Given the description of an element on the screen output the (x, y) to click on. 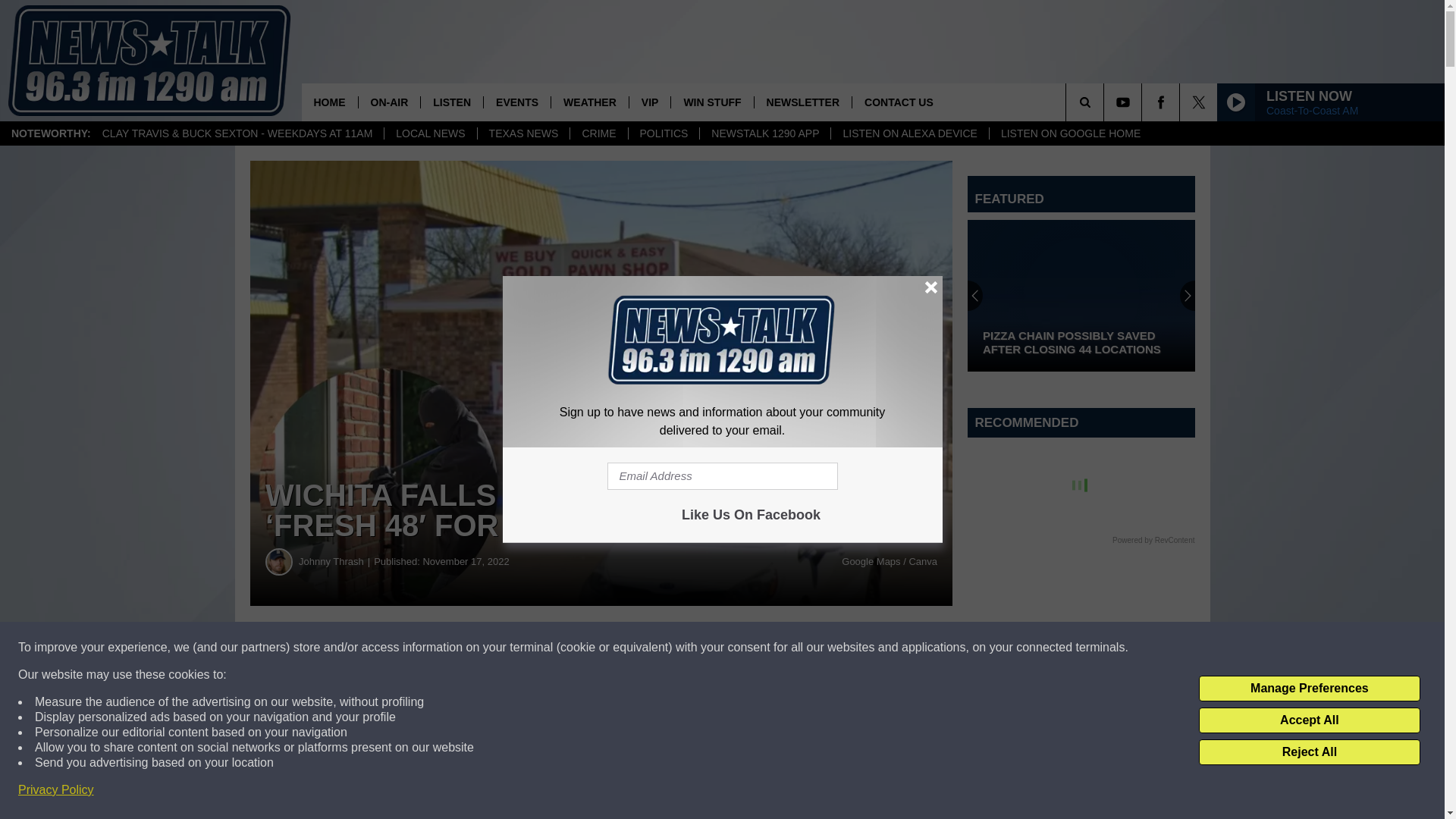
ON-AIR (389, 102)
LISTEN ON GOOGLE HOME (1069, 133)
TEXAS NEWS (523, 133)
LISTEN ON ALEXA DEVICE (908, 133)
Accept All (1309, 720)
EVENTS (516, 102)
LISTEN (451, 102)
Manage Preferences (1309, 688)
Email Address (722, 475)
NEWSTALK 1290 APP (763, 133)
WEATHER (589, 102)
Share on Facebook (460, 647)
HOME (329, 102)
POLITICS (663, 133)
Share on Twitter (741, 647)
